Given the description of an element on the screen output the (x, y) to click on. 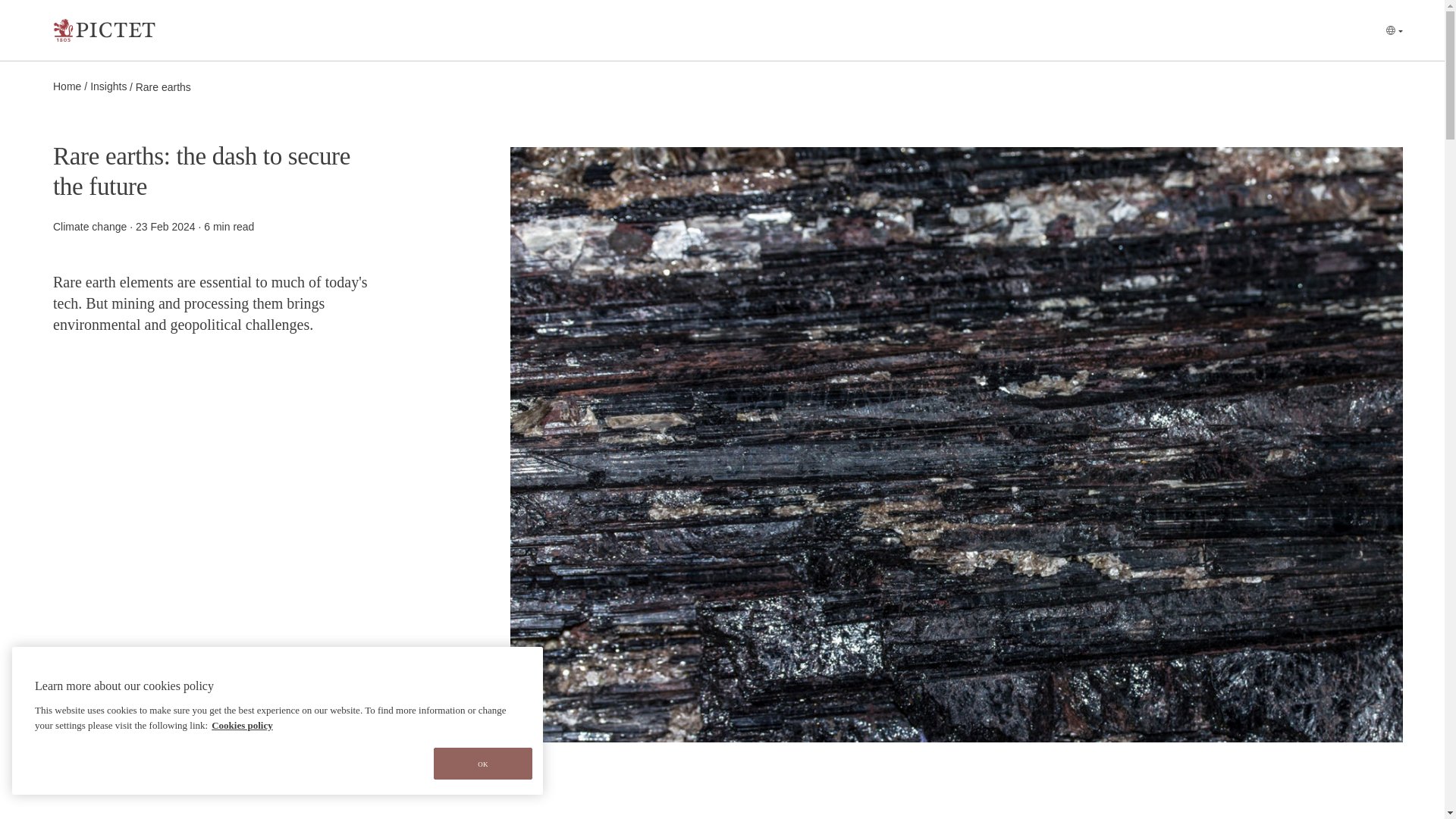
Insights (108, 86)
Home (66, 86)
